Given the description of an element on the screen output the (x, y) to click on. 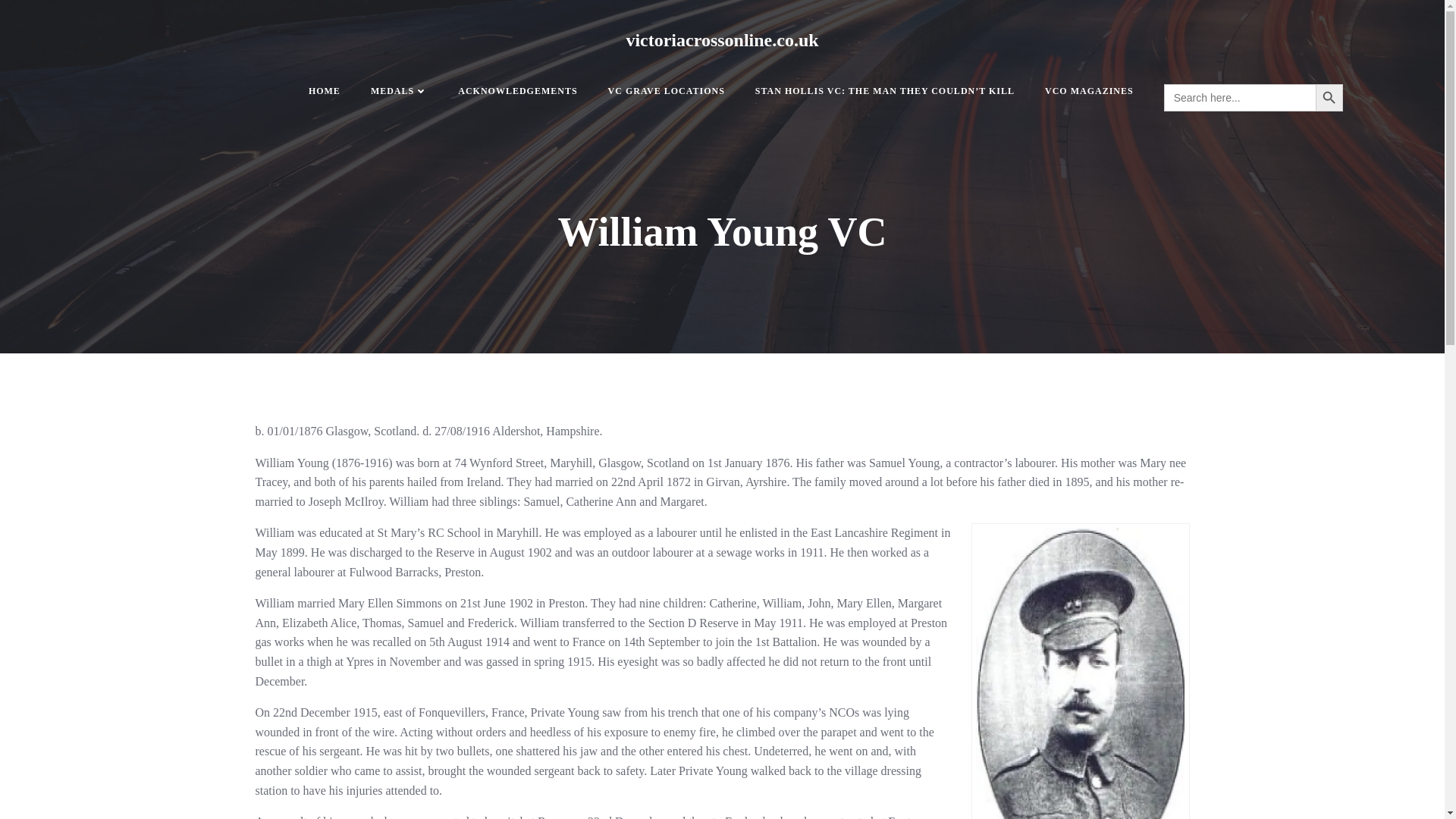
victoriacrossonline.co.uk (722, 40)
ACKNOWLEDGEMENTS (517, 90)
VCO MAGAZINES (1089, 90)
Search Button (1329, 97)
HOME (324, 90)
MEDALS (399, 90)
VC GRAVE LOCATIONS (666, 90)
